Given the description of an element on the screen output the (x, y) to click on. 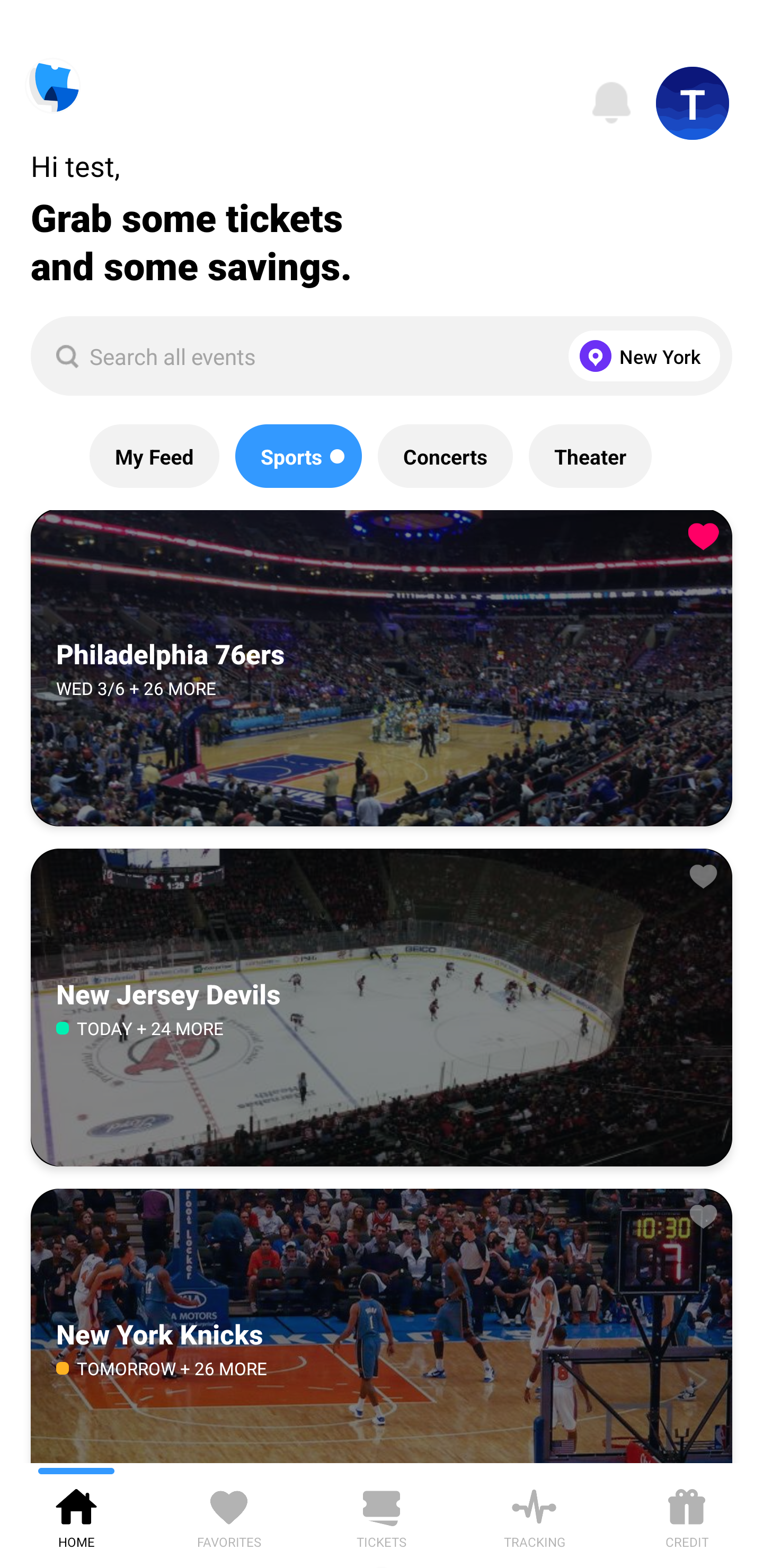
T (692, 103)
New York (640, 355)
My Feed (154, 455)
Sports (298, 455)
Concerts (444, 455)
Theater (589, 455)
HOME (76, 1515)
FAVORITES (228, 1515)
TICKETS (381, 1515)
TRACKING (533, 1515)
CREDIT (686, 1515)
